Given the description of an element on the screen output the (x, y) to click on. 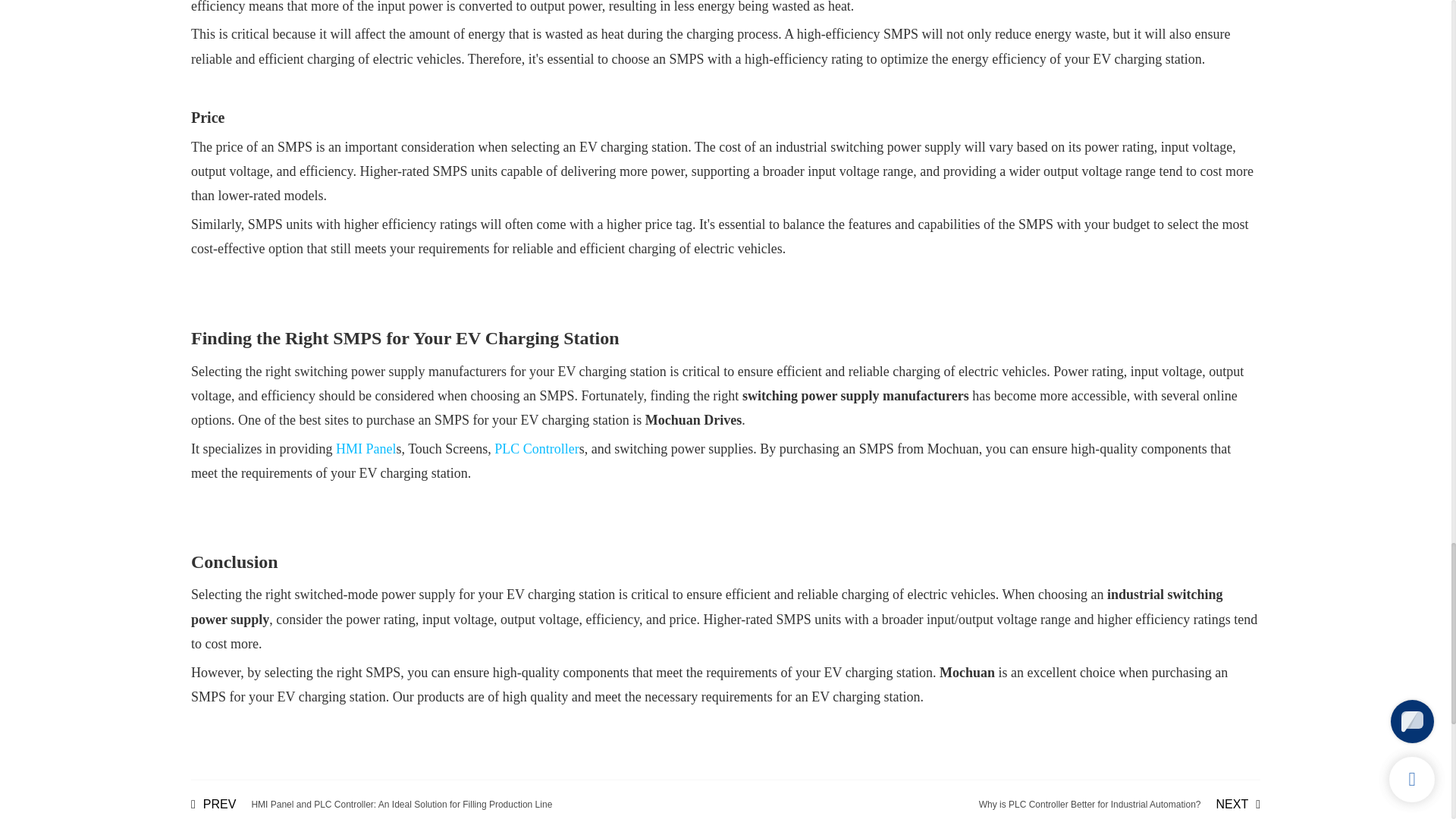
PLC Controller (537, 448)
HMI Panel (366, 448)
